Given the description of an element on the screen output the (x, y) to click on. 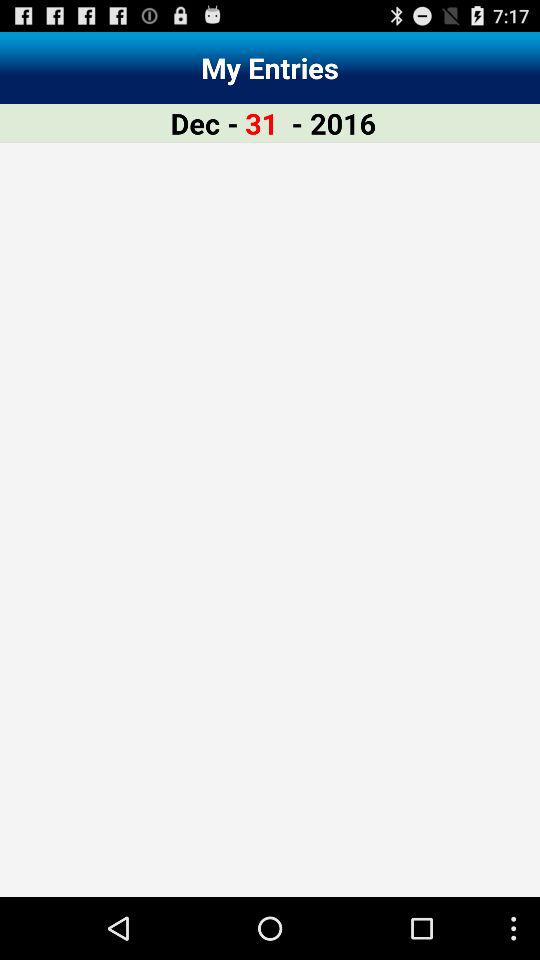
click the icon below my entries (261, 122)
